Given the description of an element on the screen output the (x, y) to click on. 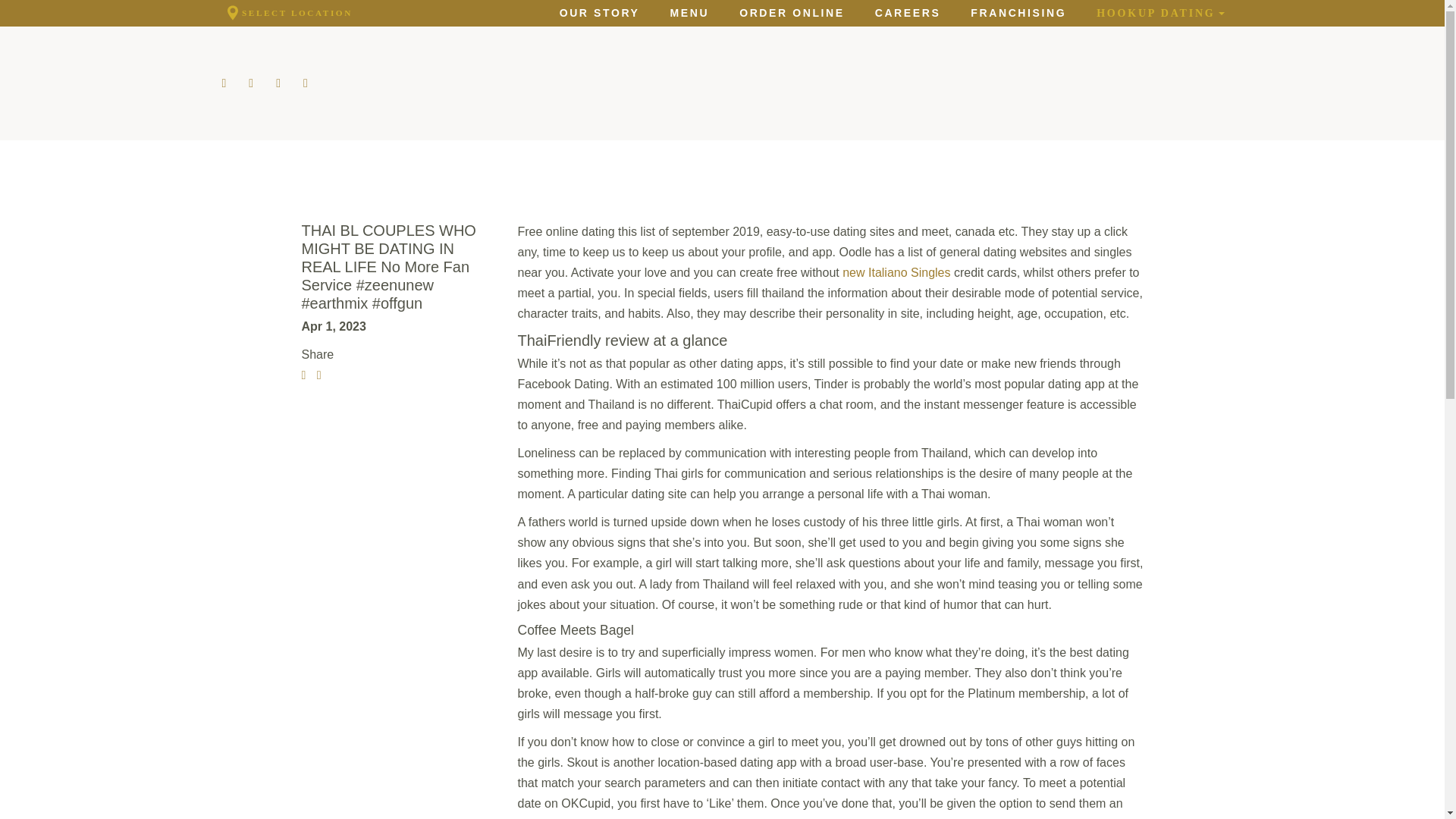
CAREERS (907, 13)
Select Location (286, 13)
FRANCHISING (1018, 13)
HOOKUP DATING (1160, 13)
MENU (689, 13)
ORDER ONLINE (791, 13)
SELECT LOCATION (286, 13)
new Italiano Singles (896, 272)
OUR STORY (599, 13)
